Given the description of an element on the screen output the (x, y) to click on. 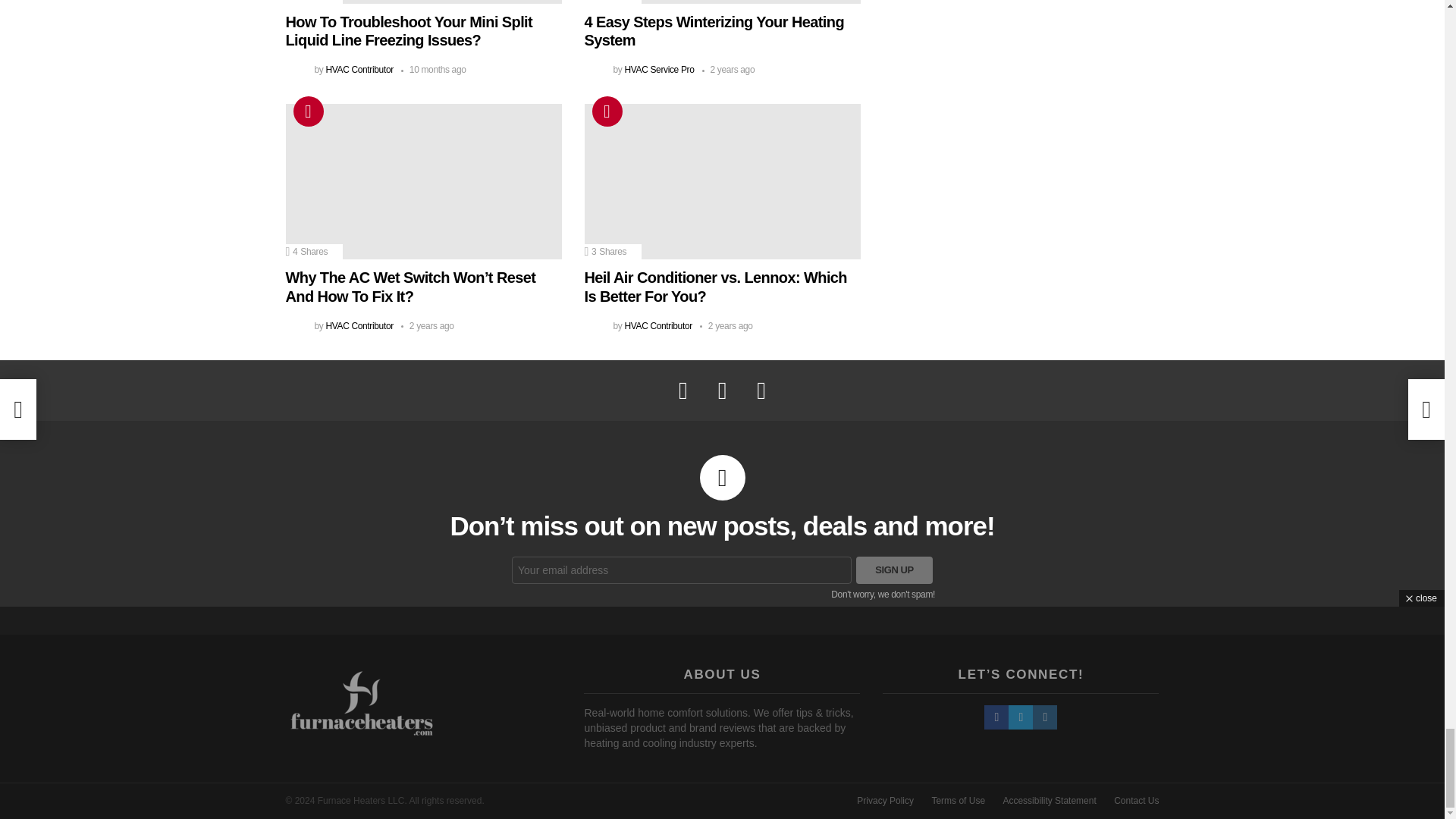
Sign up (894, 569)
